Given the description of an element on the screen output the (x, y) to click on. 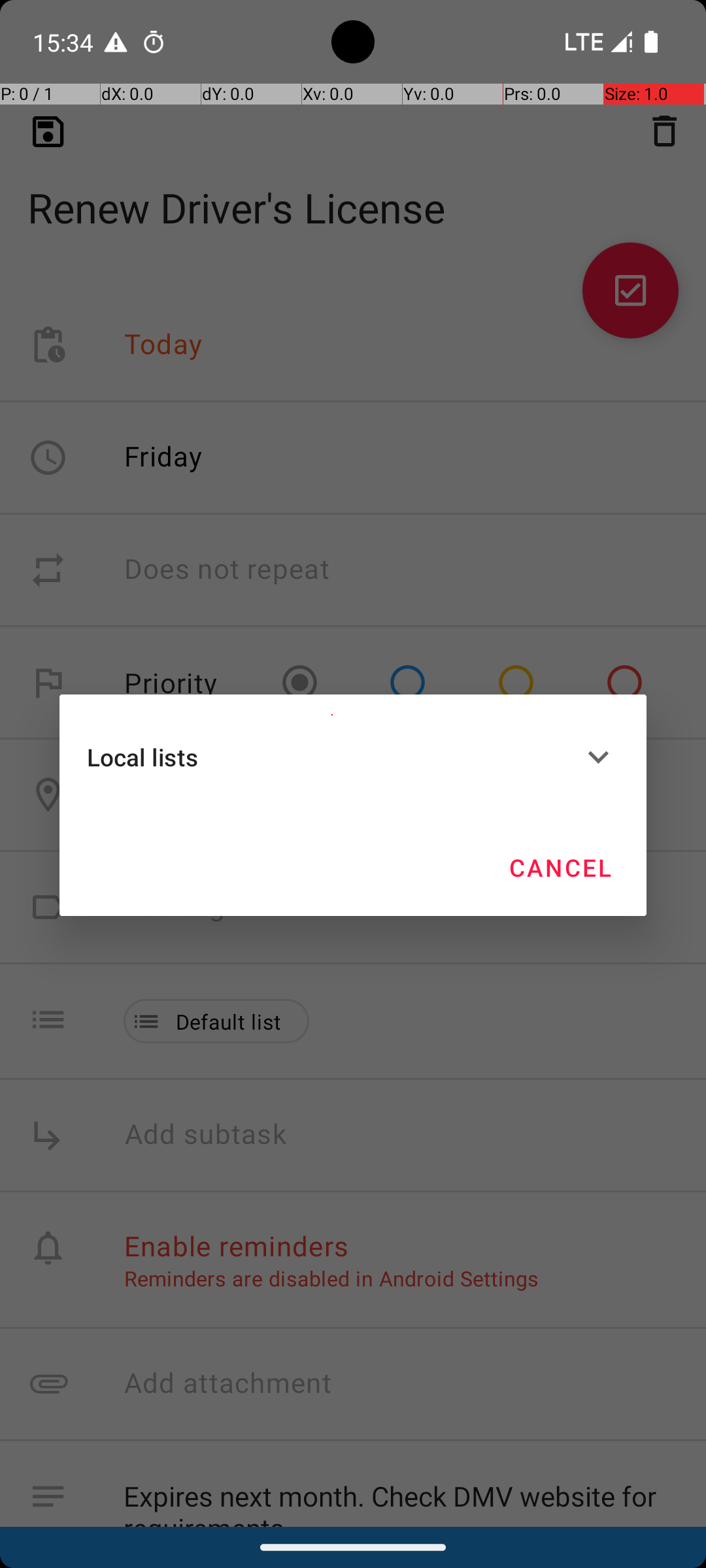
Local lists Element type: android.widget.TextView (331, 756)
